Given the description of an element on the screen output the (x, y) to click on. 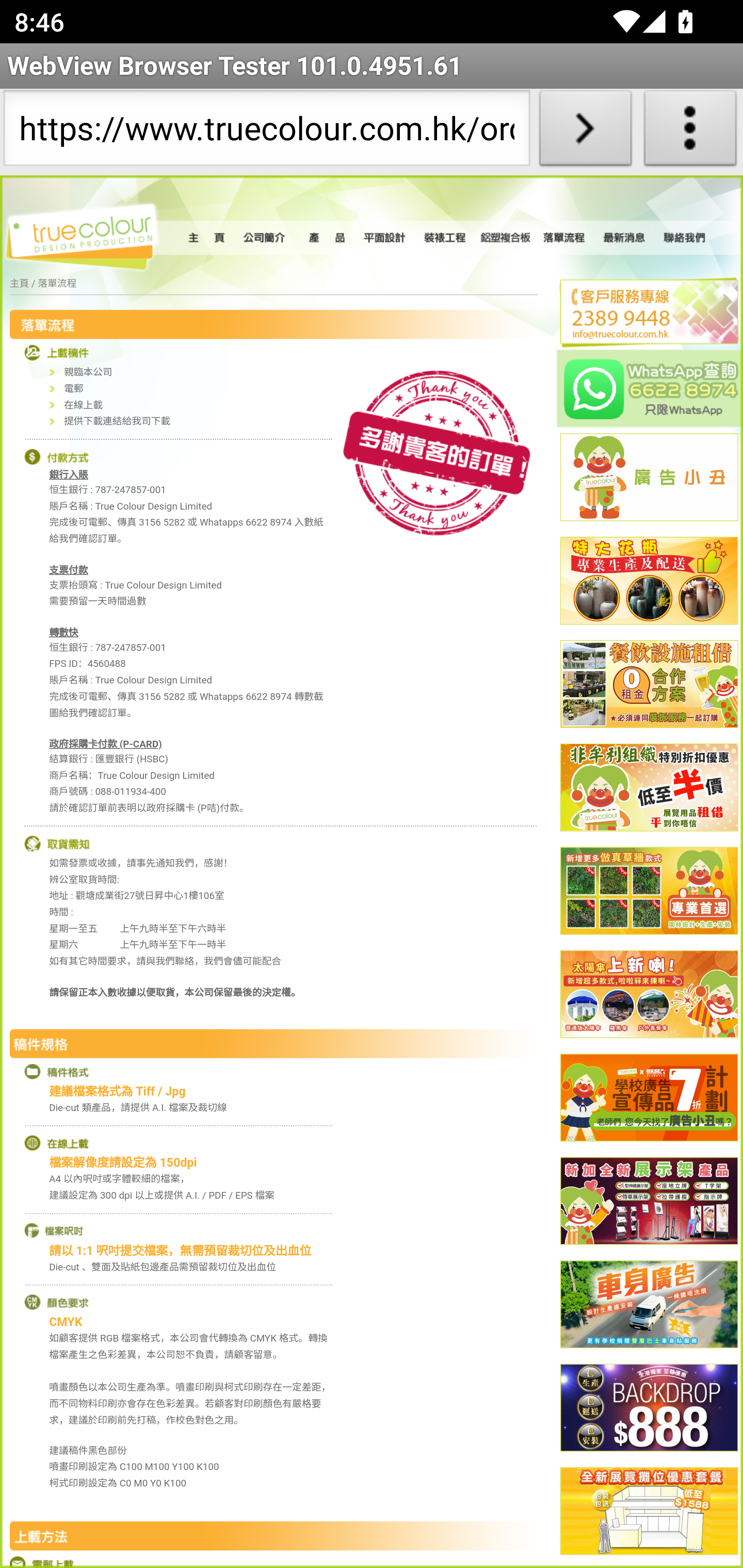
https://www.truecolour.com.hk/order.php (266, 132)
Load URL (585, 132)
About WebView (690, 132)
true colour DESIGN PRODUCTION (92, 234)
主頁 (209, 238)
公司簡介 (266, 238)
產品 (326, 238)
稿件設計 (386, 238)
裝裱工程 (445, 238)
鋁塑板 (505, 238)
落單流程 (564, 238)
最新清息 (624, 238)
聯絡我們 (685, 238)
主頁 (18, 283)
mailto:info@truecolour.com (641, 334)
WhatsApp (649, 388)
電郵 (73, 388)
在線上載 (83, 404)
%E8%8A%B1%E7%93%B6%E5%B0%8F1 (648, 581)
%E9%A4%90%E9%A3%B2banner%E5%B0%8F (648, 684)
%E9%9D%9E%E7%89%9F%E5%88%A9 (648, 788)
banner-%E5%81%87%E8%8D%89%E6%96%B04 (648, 891)
%E5%A4%AA%E9%99%BD%E5%82%982 (648, 994)
banner%E5%AD%B8%E6%A0%A1%E6%96%B0 (648, 1098)
%E5%B1%95%E7%A4%BA%E6%9E%B611 (648, 1201)
banner-%E8%BB%8A%E8%B2%BC1 (648, 1305)
banner-brodrop (648, 1408)
banner-%E5%B1%95%E6%9C%83 (648, 1512)
